Given the description of an element on the screen output the (x, y) to click on. 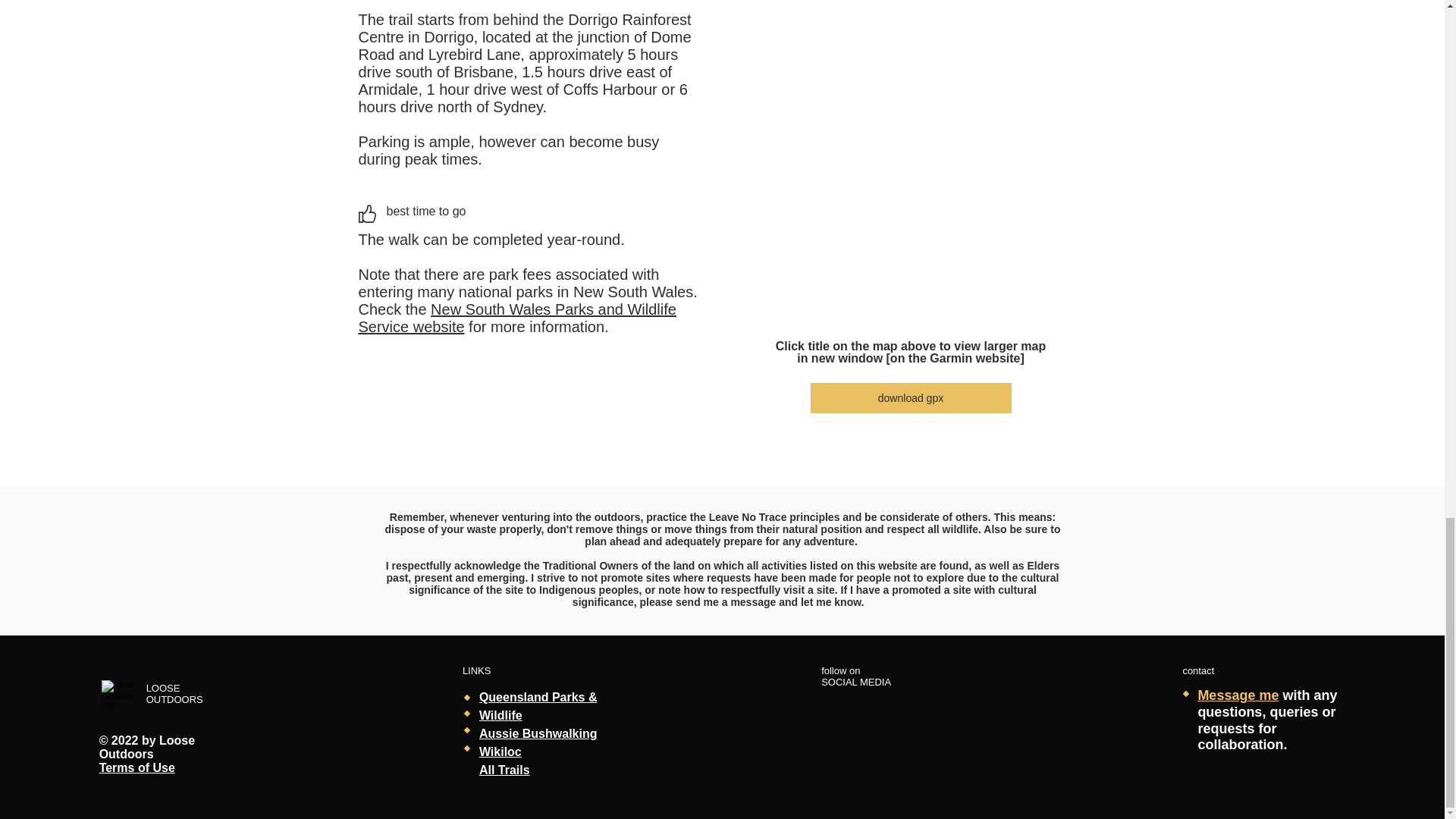
All Trails (504, 769)
Aussie Bushwalking (537, 733)
download gpx (909, 398)
Wikiloc (500, 751)
Terms of Use (136, 767)
New South Wales Parks and Wildlife Service website (516, 317)
